Given the description of an element on the screen output the (x, y) to click on. 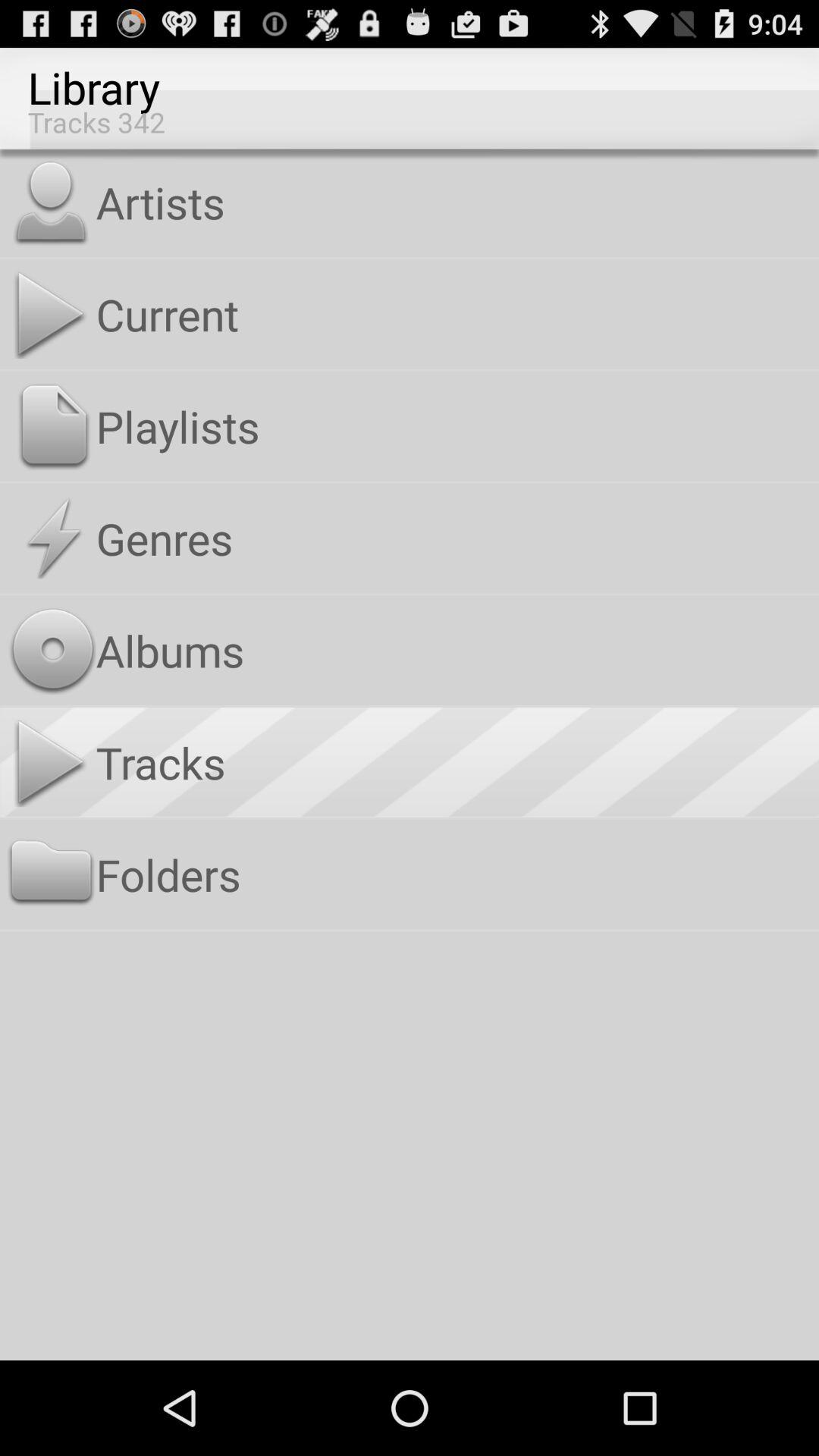
scroll to the folders icon (454, 874)
